Given the description of an element on the screen output the (x, y) to click on. 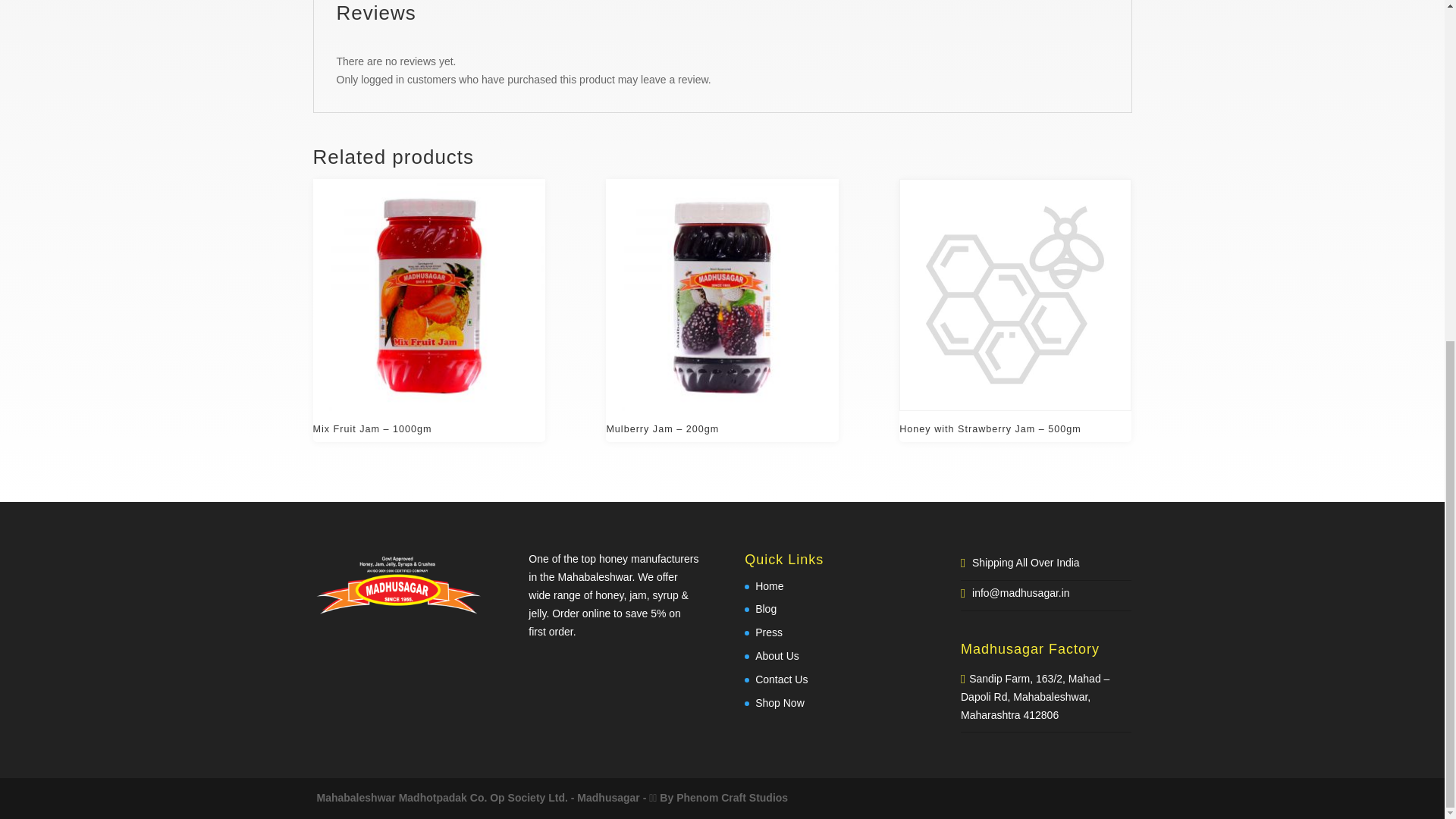
Press (769, 632)
About Us (777, 655)
Contact Us (781, 679)
Shop Now (780, 702)
Blog (765, 608)
Home (769, 585)
Phenom Craft Studios (732, 797)
